Given the description of an element on the screen output the (x, y) to click on. 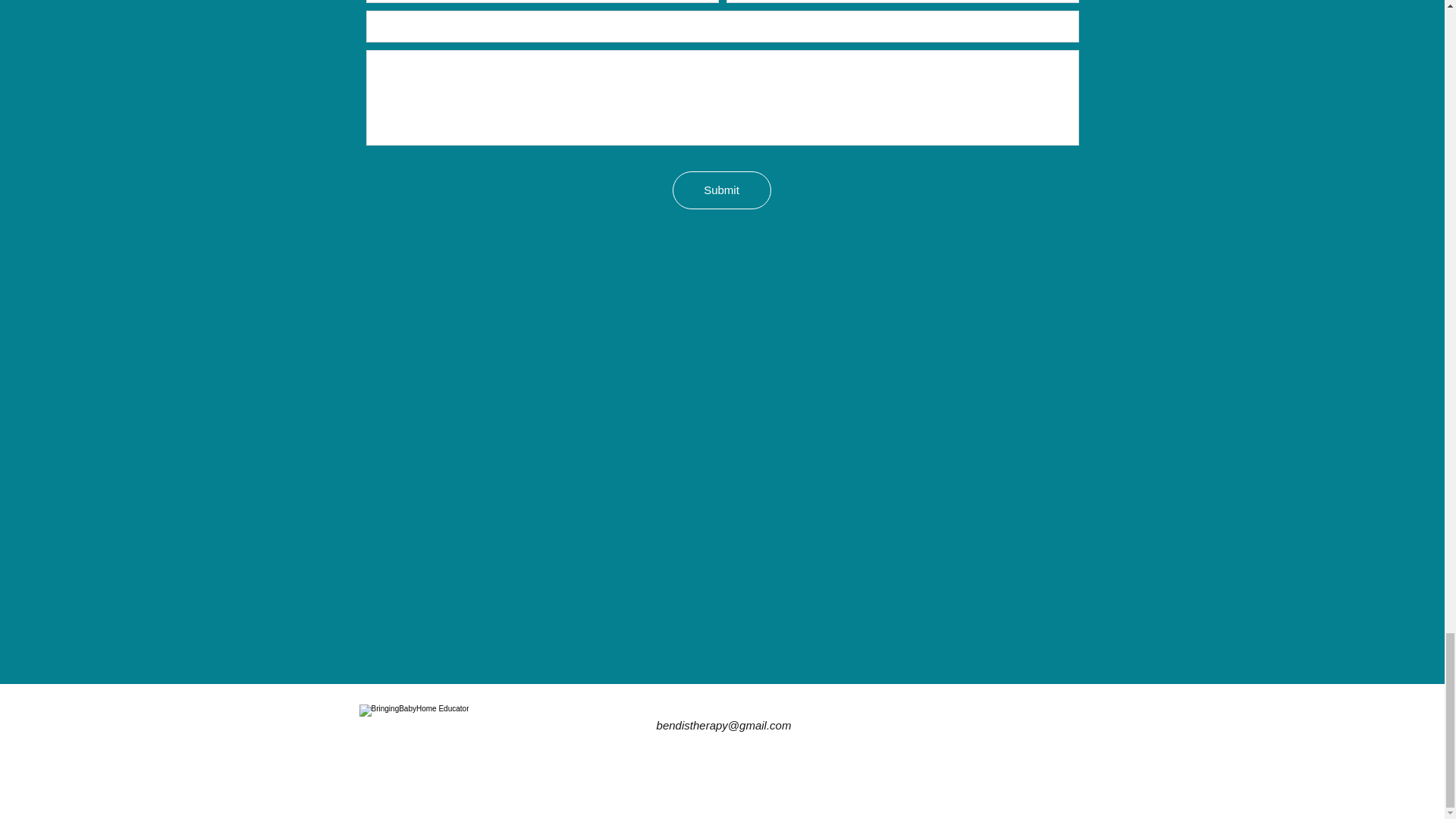
Submit (720, 190)
